Given the description of an element on the screen output the (x, y) to click on. 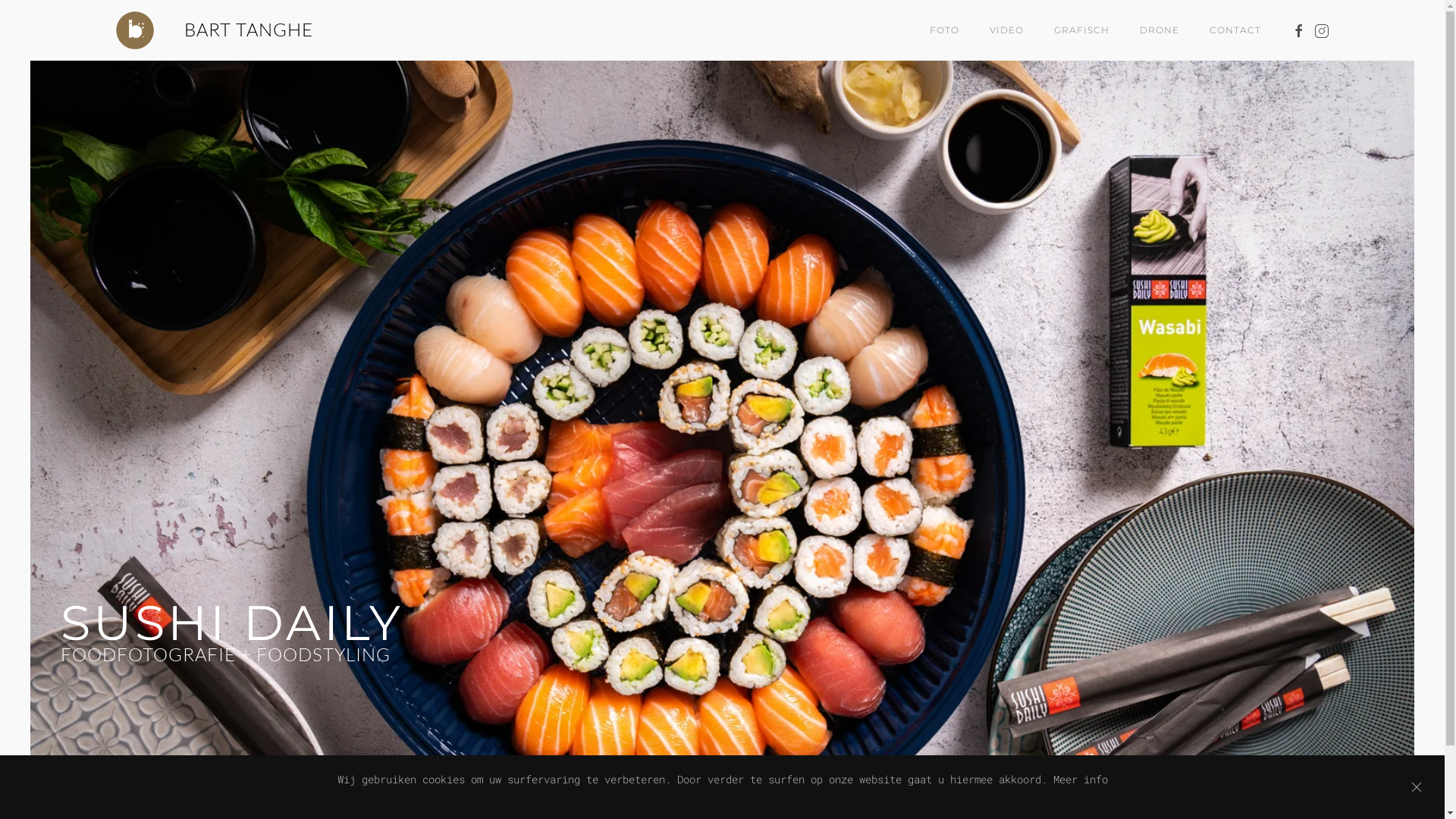
Sushi Daily Element type: text (699, 813)
FOTO Element type: text (944, 30)
DRONE Element type: text (1158, 30)
CONTACT Element type: text (1234, 30)
Bedrijf Element type: text (759, 813)
Drone (NIEUW!) Element type: text (668, 813)
Horeca Element type: text (683, 813)
Interieur Element type: text (744, 813)
VIDEO Element type: text (1005, 30)
restaurant PUUR Element type: text (714, 813)
Grafisch ontwerp Element type: text (774, 813)
Vastgoed Element type: text (729, 813)
GRAFISCH Element type: text (1081, 30)
